Given the description of an element on the screen output the (x, y) to click on. 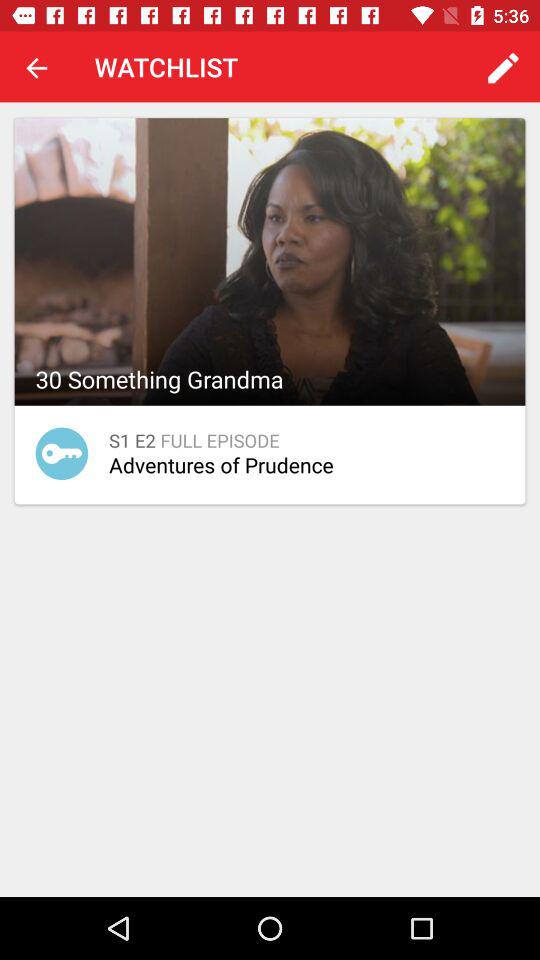
turn on the app next to the watchlist icon (36, 67)
